Given the description of an element on the screen output the (x, y) to click on. 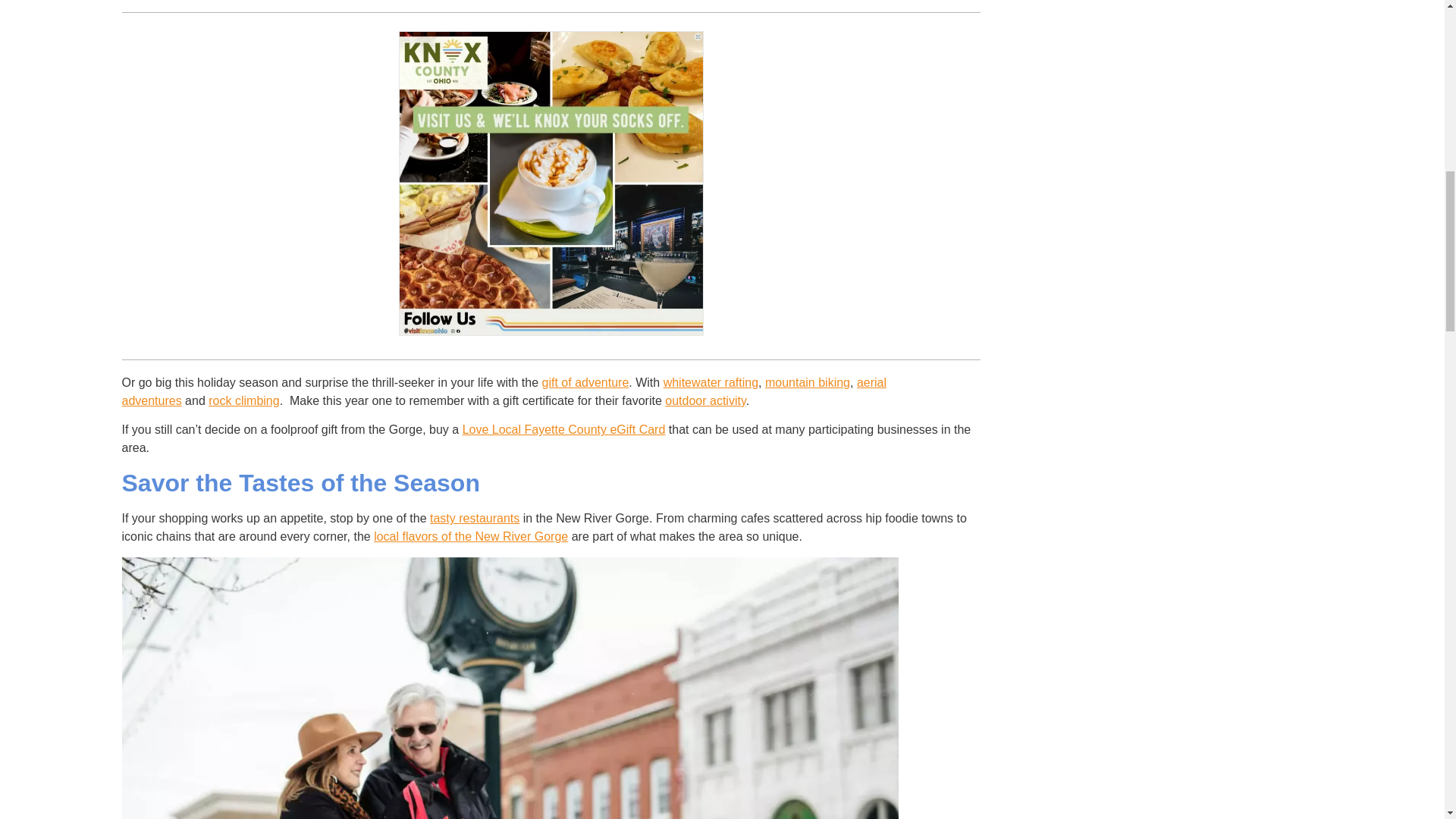
gift of adventure (584, 382)
mountain biking (807, 382)
aerial adventures (503, 391)
whitewater rafting (710, 382)
